Given the description of an element on the screen output the (x, y) to click on. 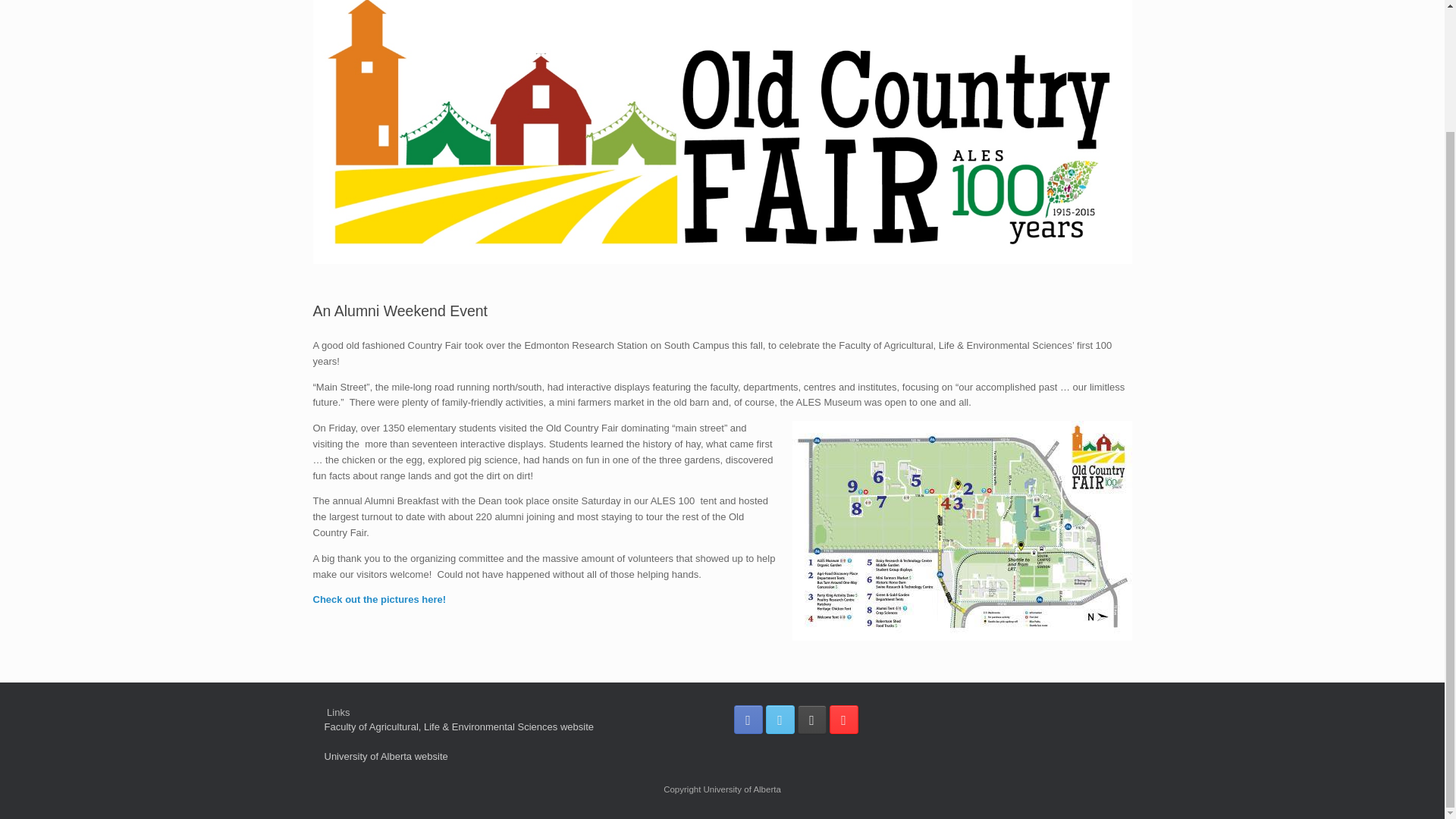
ALES 100 Flickr (812, 719)
University of Alberta website (386, 756)
ALES 100 YouTube (844, 719)
ALES 100 Facebook (747, 719)
Check out the pictures here! (379, 599)
